Given the description of an element on the screen output the (x, y) to click on. 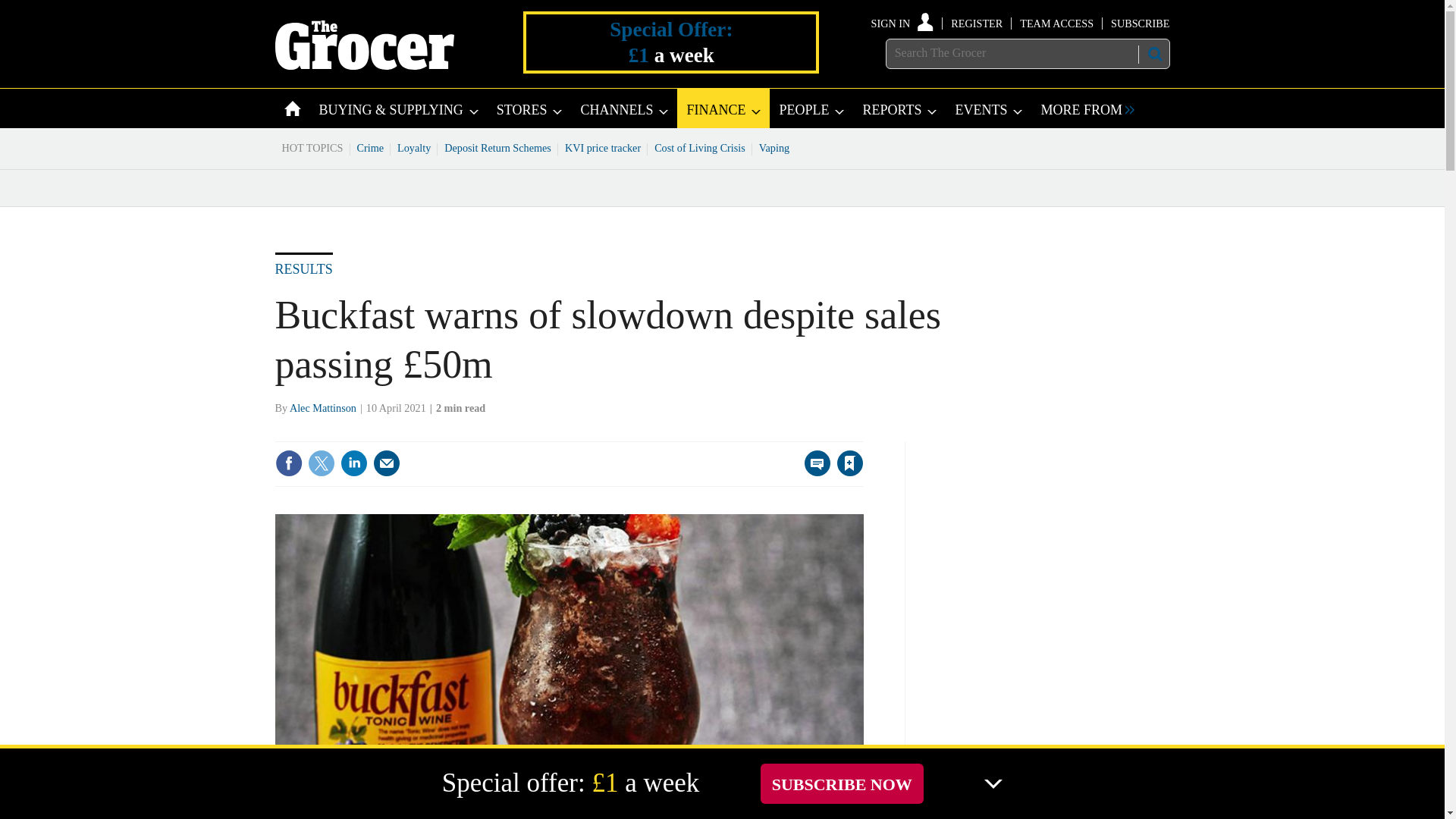
SUBSCRIBE NOW (841, 783)
No comments (812, 472)
Share this on Facebook (288, 462)
TEAM ACCESS (1056, 23)
Deposit Return Schemes (497, 147)
Vaping (774, 147)
KVI price tracker (602, 147)
SIGN IN (902, 23)
REGISTER (976, 23)
SUBSCRIBE (1139, 23)
Cost of Living Crisis (699, 147)
Share this on Twitter (320, 462)
Email this article (386, 462)
Loyalty (414, 147)
Site name (363, 65)
